Given the description of an element on the screen output the (x, y) to click on. 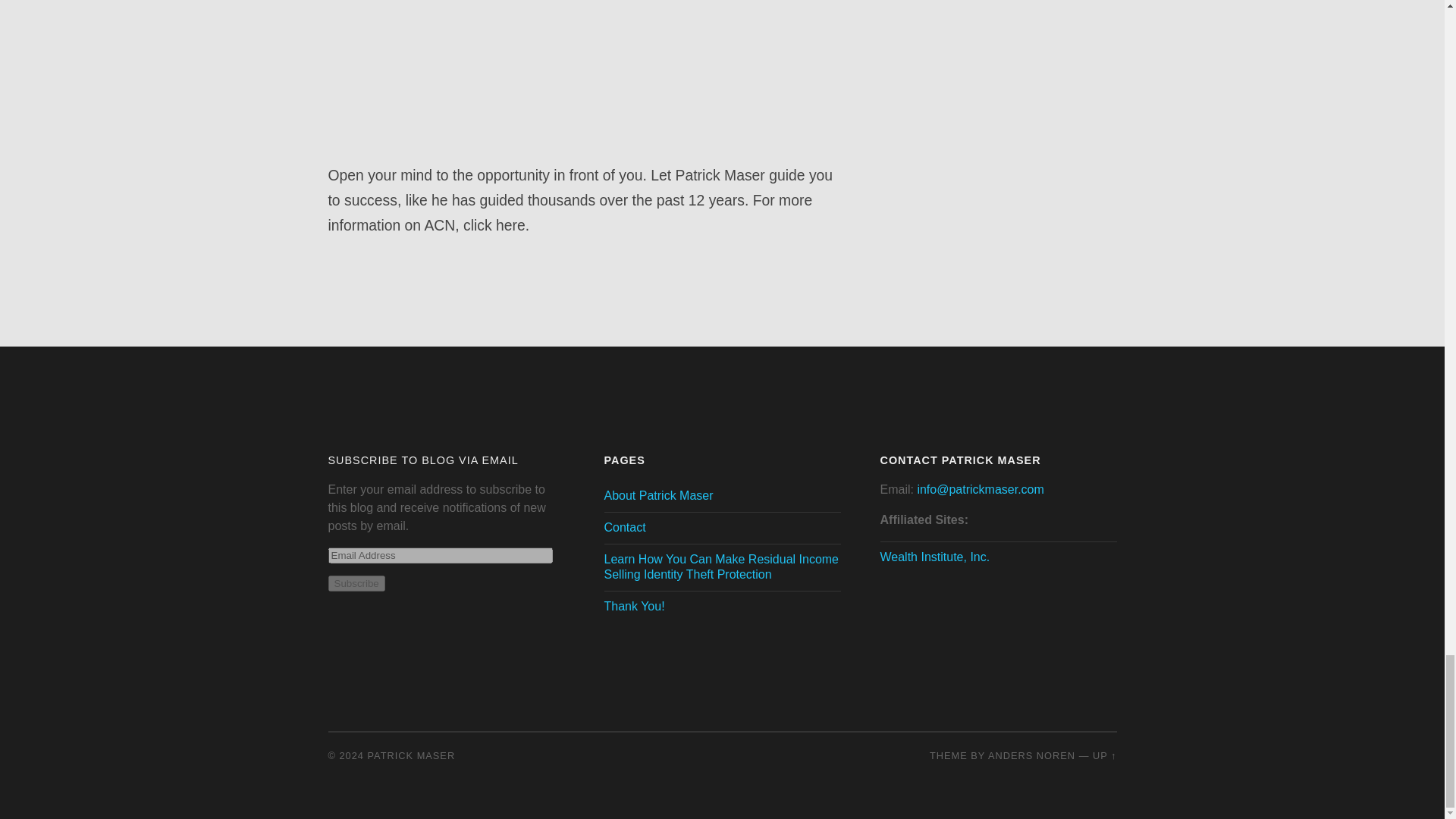
Email Address (439, 555)
Subscribe (355, 583)
